Given the description of an element on the screen output the (x, y) to click on. 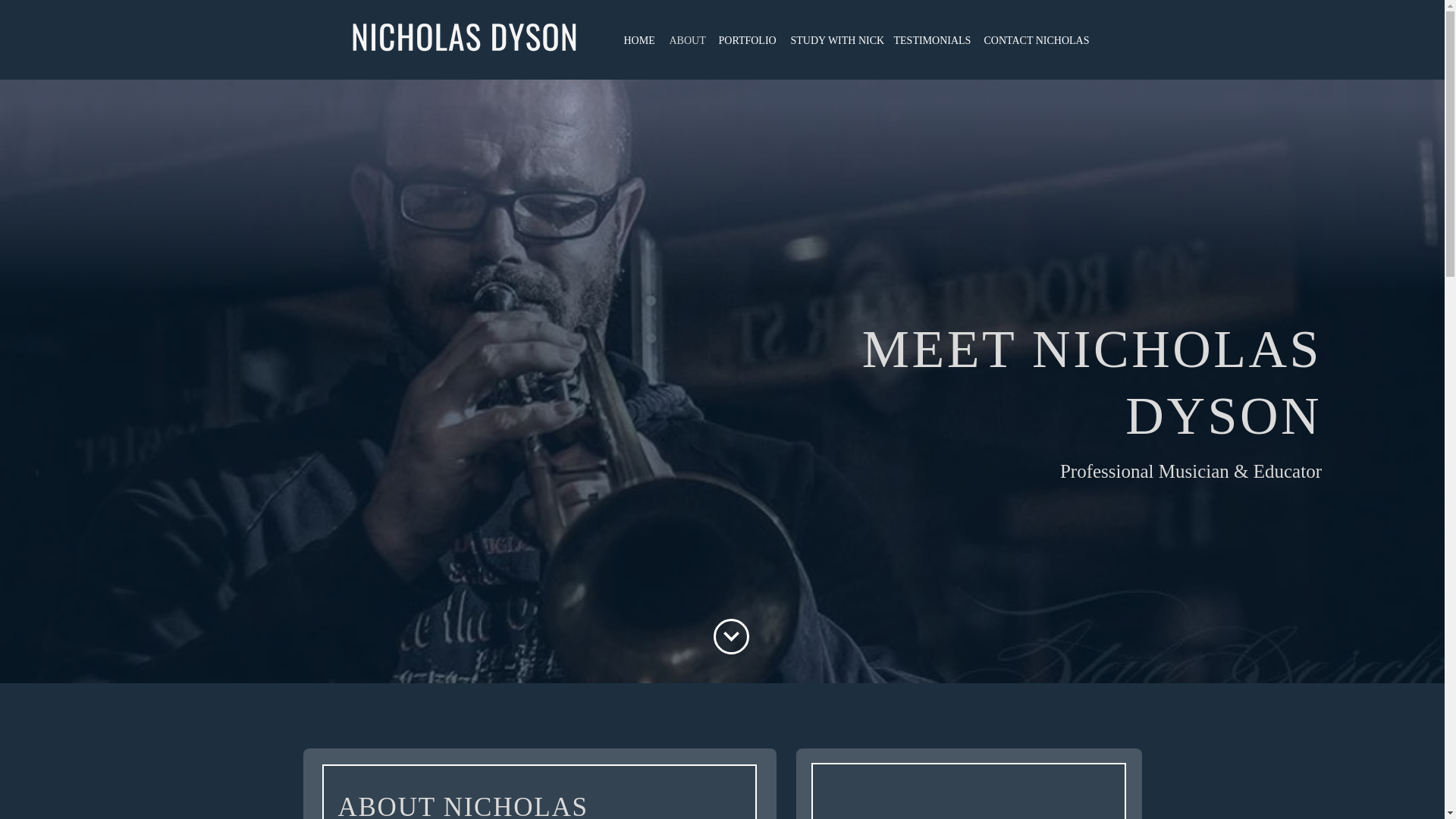
STUDY WITH NICK (834, 40)
HOME (638, 40)
CONTACT NICHOLAS (1034, 40)
PORTFOLIO (747, 40)
ABOUT (685, 40)
TESTIMONIALS (930, 40)
